Given the description of an element on the screen output the (x, y) to click on. 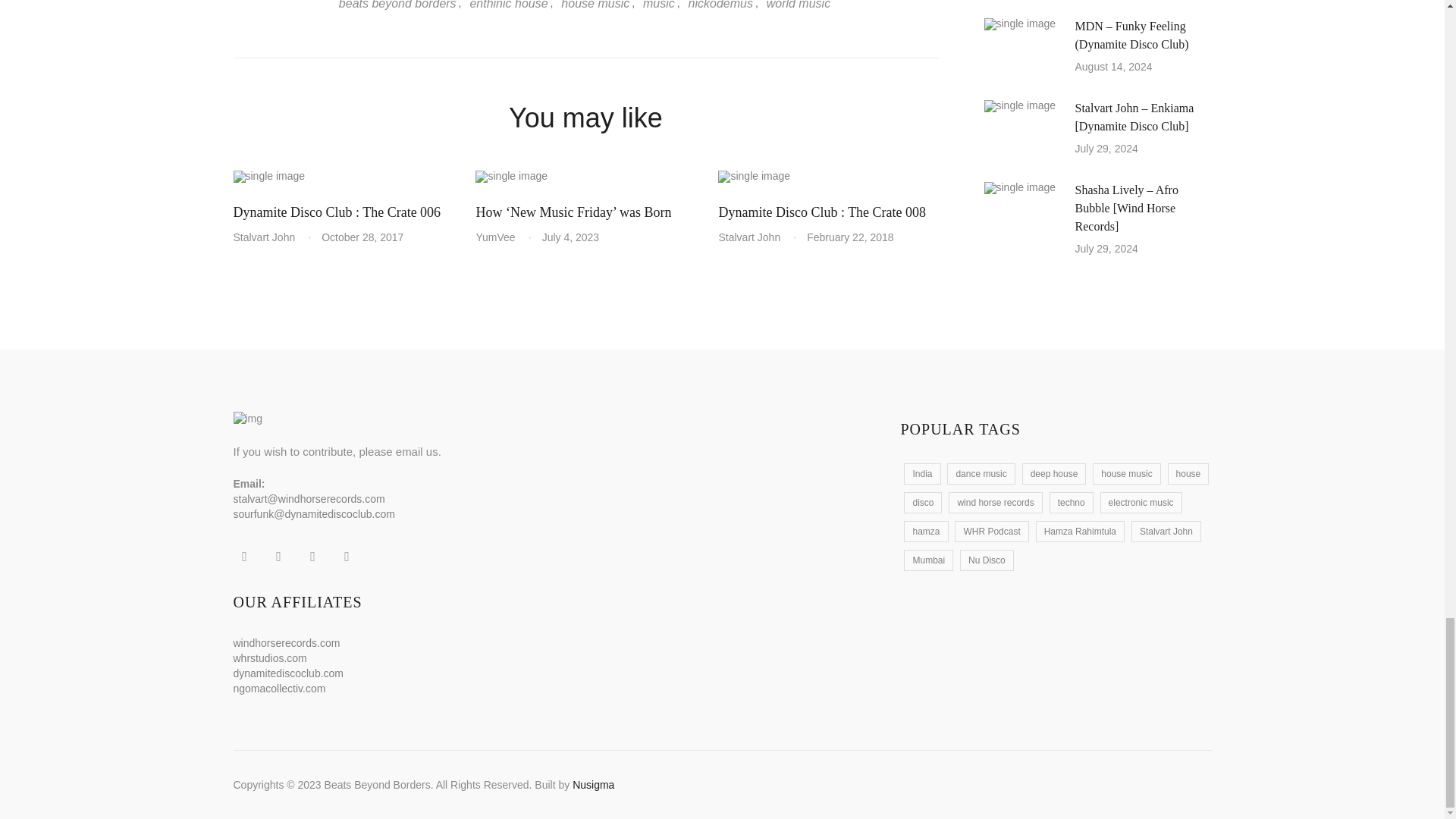
enthinic house (507, 6)
YumVee (500, 236)
ion-social-twitter (277, 556)
beats beyond borders (398, 6)
music (657, 6)
Dynamite Disco Club : The Crate 006 (336, 212)
ion-social-instagram (312, 556)
house music (593, 6)
October 28, 2017 (362, 236)
July 4, 2023 (570, 236)
